Given the description of an element on the screen output the (x, y) to click on. 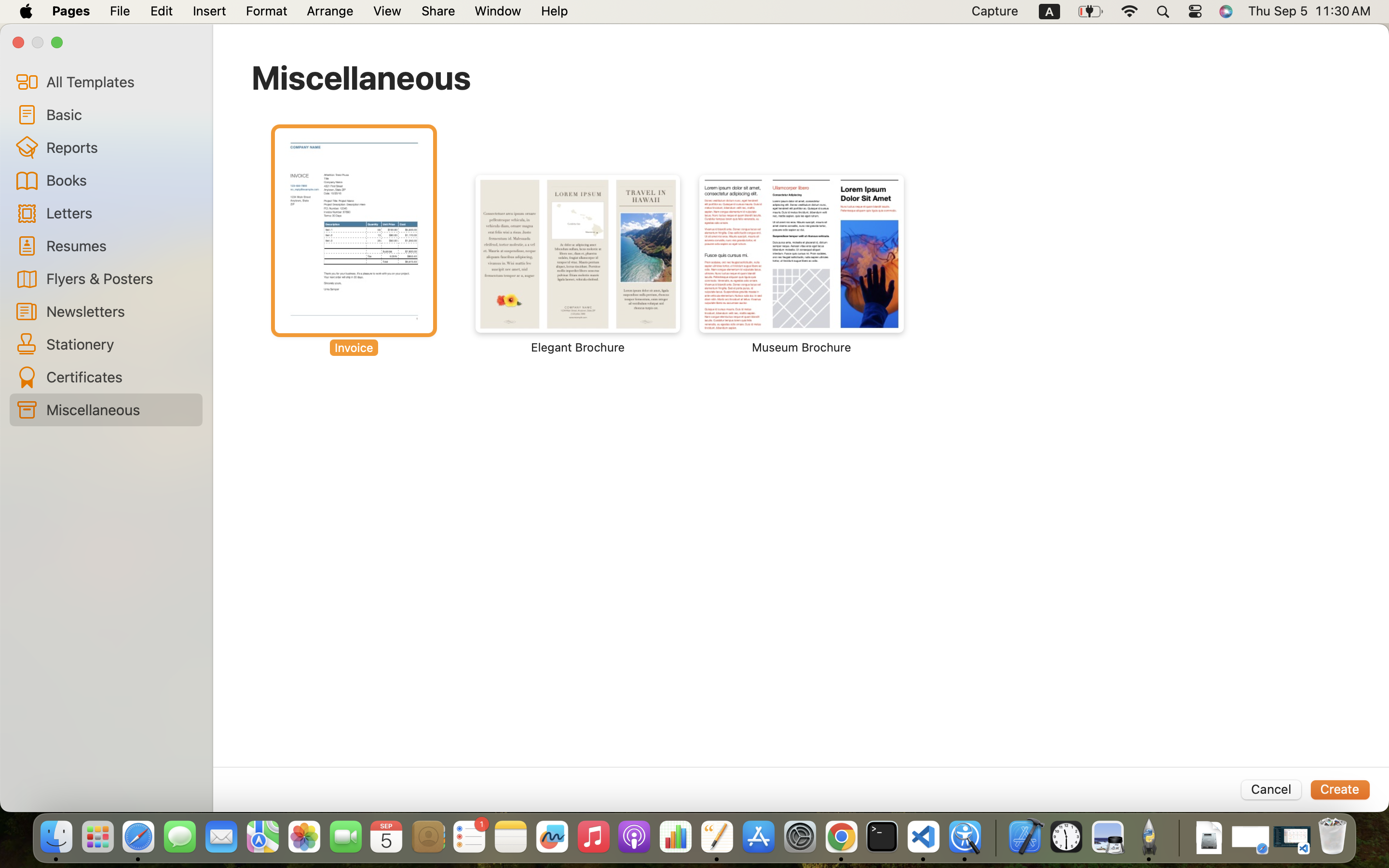
Certificates Element type: AXStaticText (120, 376)
‎⁨Elegant Brochure⁩ Element type: AXButton (577, 263)
Books Element type: AXStaticText (120, 179)
‎⁨Museum Brochure⁩ Element type: AXButton (801, 263)
Resumes Element type: AXStaticText (120, 245)
